Given the description of an element on the screen output the (x, y) to click on. 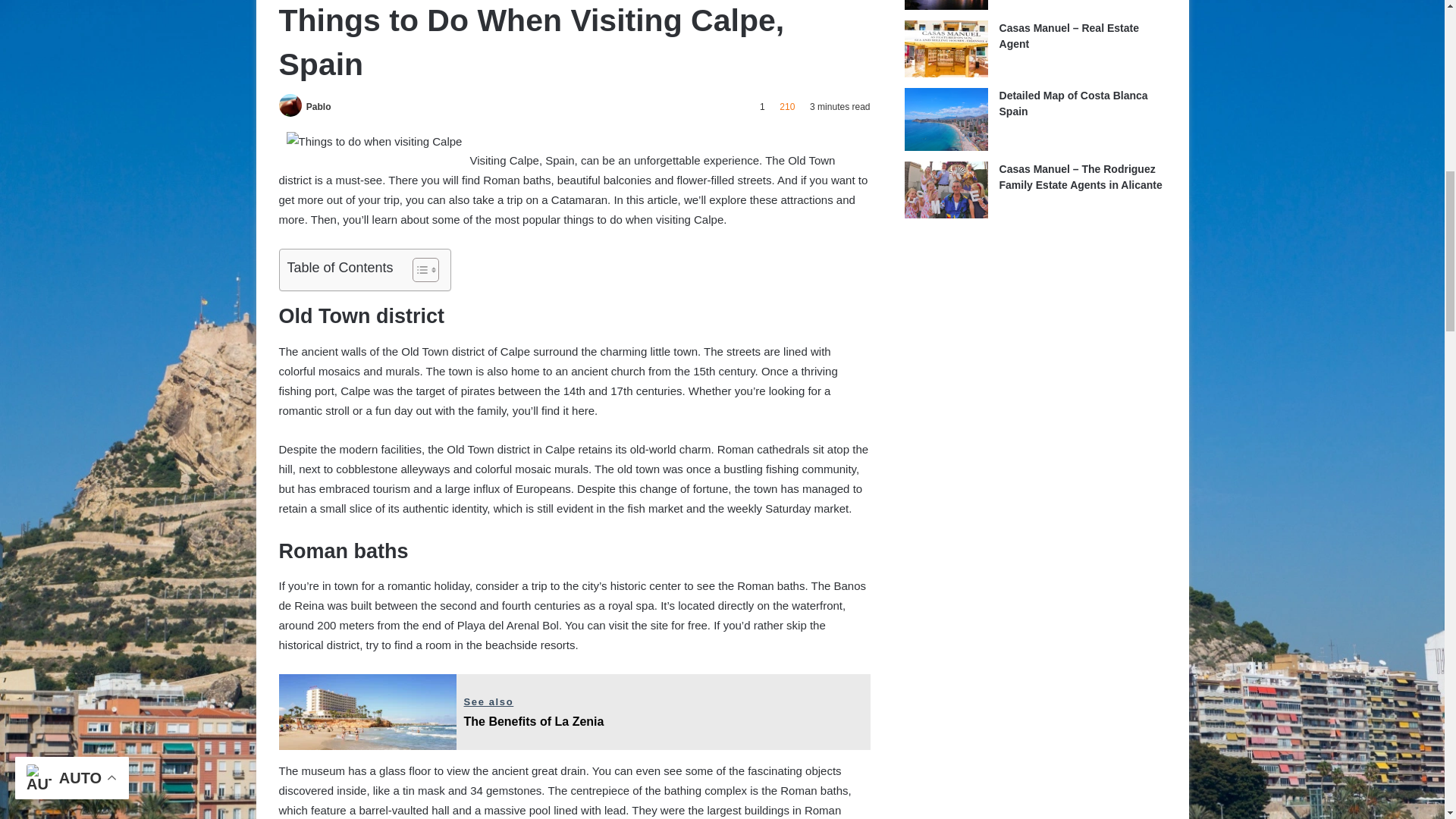
Pablo (318, 106)
Pablo (318, 106)
